Given the description of an element on the screen output the (x, y) to click on. 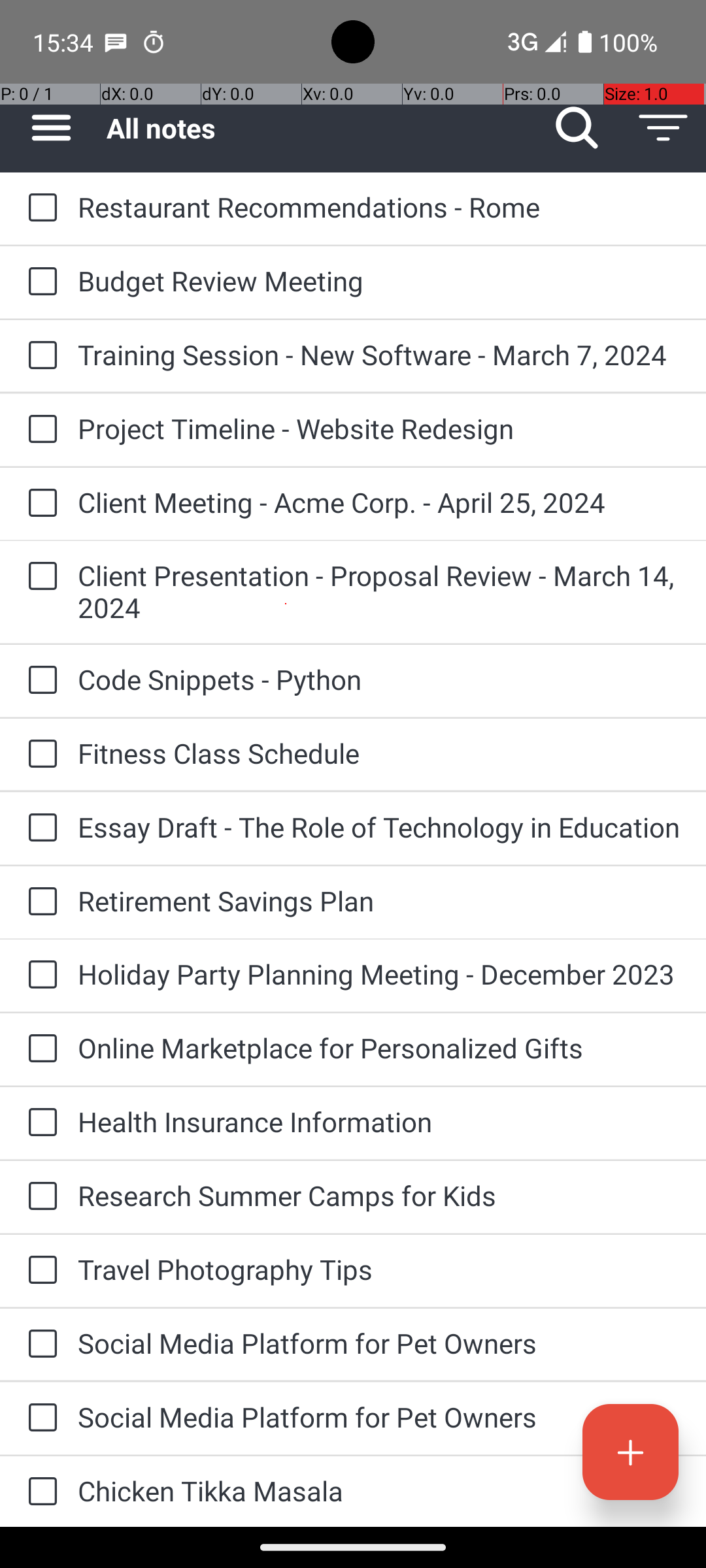
to-do: Restaurant Recommendations - Rome Element type: android.widget.CheckBox (38, 208)
Restaurant Recommendations - Rome Element type: android.widget.TextView (378, 206)
to-do: Budget Review Meeting Element type: android.widget.CheckBox (38, 282)
Budget Review Meeting Element type: android.widget.TextView (378, 280)
to-do: Training Session - New Software - March 7, 2024 Element type: android.widget.CheckBox (38, 356)
Training Session - New Software - March 7, 2024 Element type: android.widget.TextView (378, 354)
to-do: Project Timeline - Website Redesign Element type: android.widget.CheckBox (38, 429)
Project Timeline - Website Redesign Element type: android.widget.TextView (378, 427)
to-do: Client Meeting - Acme Corp. - April 25, 2024 Element type: android.widget.CheckBox (38, 503)
Client Meeting - Acme Corp. - April 25, 2024 Element type: android.widget.TextView (378, 501)
to-do: Client Presentation - Proposal Review - March 14, 2024 Element type: android.widget.CheckBox (38, 576)
Client Presentation - Proposal Review - March 14, 2024 Element type: android.widget.TextView (378, 590)
to-do: Code Snippets - Python Element type: android.widget.CheckBox (38, 680)
Code Snippets - Python Element type: android.widget.TextView (378, 678)
to-do: Fitness Class Schedule Element type: android.widget.CheckBox (38, 754)
Fitness Class Schedule Element type: android.widget.TextView (378, 752)
to-do: Retirement Savings Plan Element type: android.widget.CheckBox (38, 902)
Retirement Savings Plan Element type: android.widget.TextView (378, 900)
to-do: Holiday Party Planning Meeting - December 2023 Element type: android.widget.CheckBox (38, 975)
Holiday Party Planning Meeting - December 2023 Element type: android.widget.TextView (378, 973)
to-do: Online Marketplace for Personalized Gifts Element type: android.widget.CheckBox (38, 1049)
Online Marketplace for Personalized Gifts Element type: android.widget.TextView (378, 1047)
to-do: Health Insurance Information Element type: android.widget.CheckBox (38, 1123)
Health Insurance Information Element type: android.widget.TextView (378, 1121)
to-do: Research Summer Camps for Kids Element type: android.widget.CheckBox (38, 1196)
Research Summer Camps for Kids Element type: android.widget.TextView (378, 1194)
to-do: Travel Photography Tips Element type: android.widget.CheckBox (38, 1270)
Travel Photography Tips Element type: android.widget.TextView (378, 1268)
to-do: Social Media Platform for Pet Owners Element type: android.widget.CheckBox (38, 1344)
Social Media Platform for Pet Owners Element type: android.widget.TextView (378, 1342)
to-do: Chicken Tikka Masala Element type: android.widget.CheckBox (38, 1491)
Chicken Tikka Masala Element type: android.widget.TextView (378, 1490)
